Given the description of an element on the screen output the (x, y) to click on. 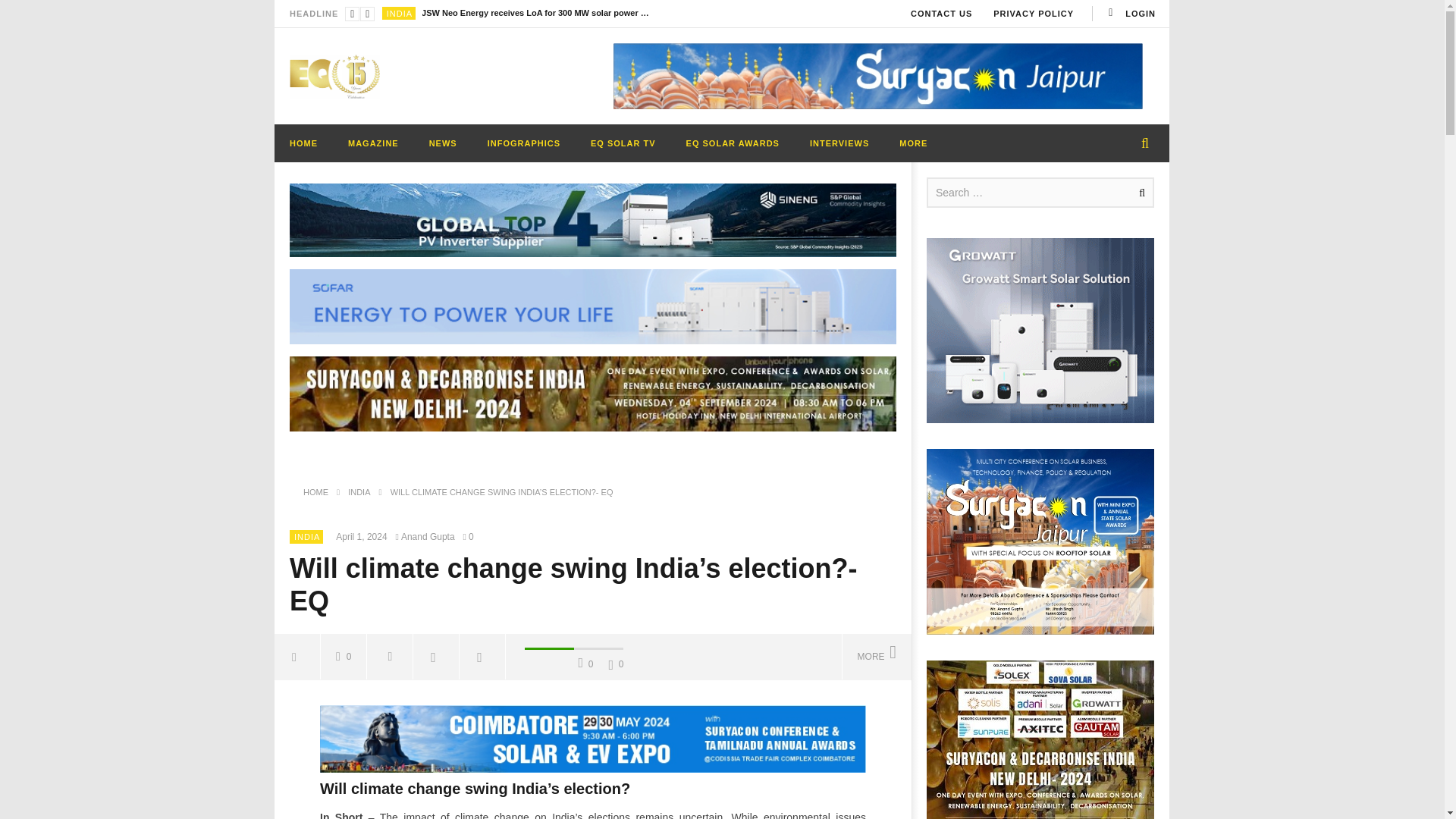
PRIVACY POLICY (1033, 13)
INDIA (399, 13)
NEWS (442, 143)
Search (1139, 192)
MAGAZINE (373, 143)
LOGIN (1130, 13)
The Leading Solar Magazine In India (334, 76)
HOME (304, 143)
CONTACT US (940, 13)
View all posts in India (399, 13)
View all posts in India (307, 536)
Search (1139, 192)
